Given the description of an element on the screen output the (x, y) to click on. 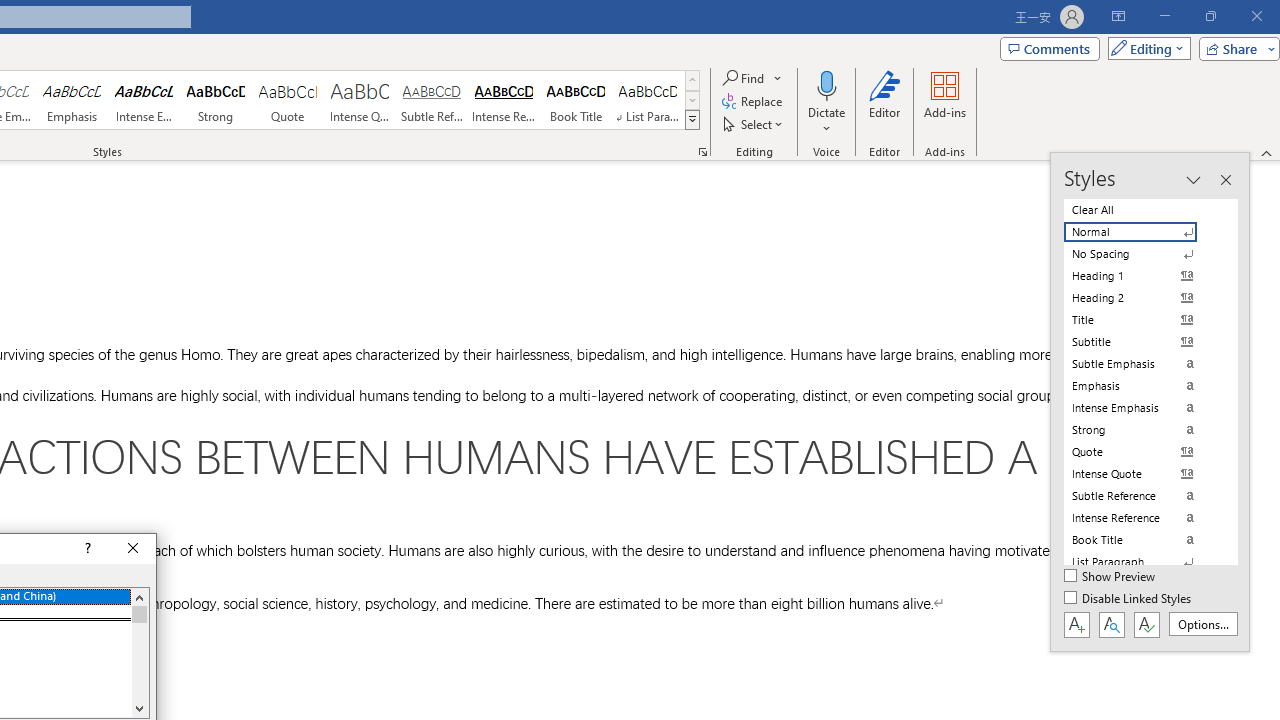
Line up (139, 597)
Book Title (575, 100)
Intense Quote (359, 100)
Show Preview (1110, 577)
Options... (1202, 623)
Intense Emphasis (143, 100)
